Given the description of an element on the screen output the (x, y) to click on. 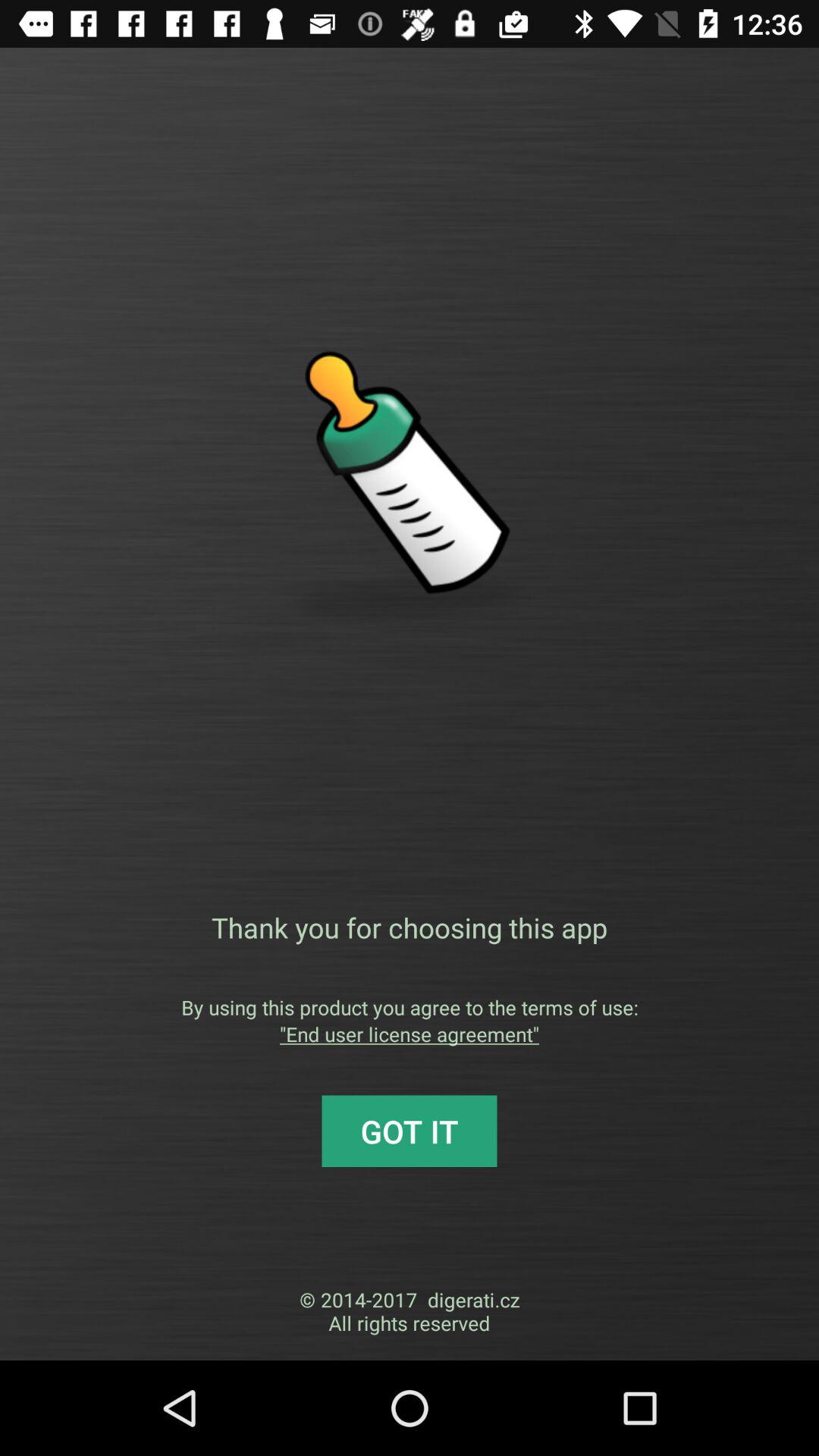
flip until thank you for (409, 927)
